Given the description of an element on the screen output the (x, y) to click on. 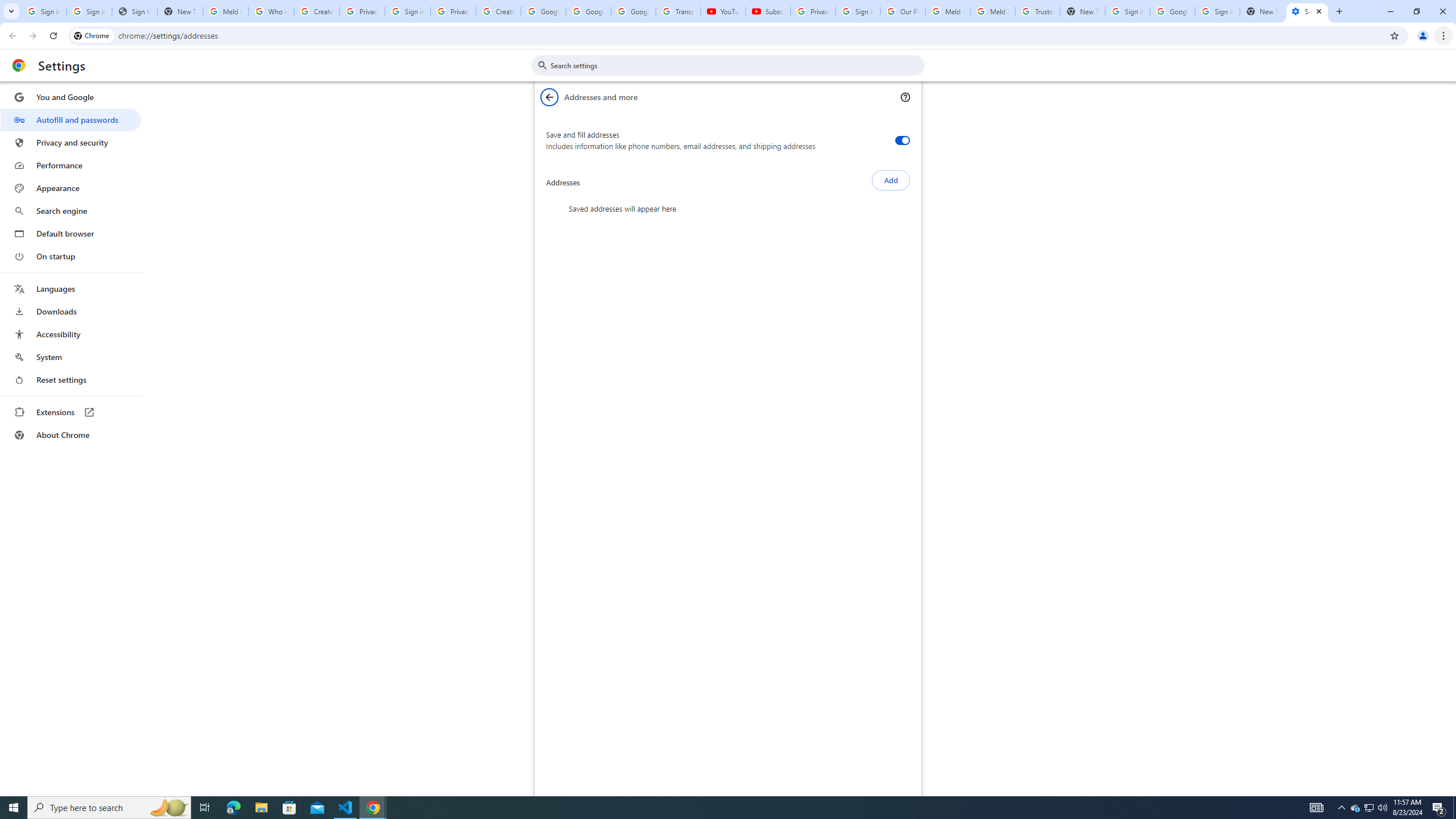
Sign in - Google Accounts (88, 11)
Sign in - Google Accounts (857, 11)
Accessibility (70, 333)
Search engine (70, 210)
Sign in - Google Accounts (407, 11)
Performance (70, 164)
Who is my administrator? - Google Account Help (270, 11)
Extensions (70, 412)
On startup (70, 255)
